Given the description of an element on the screen output the (x, y) to click on. 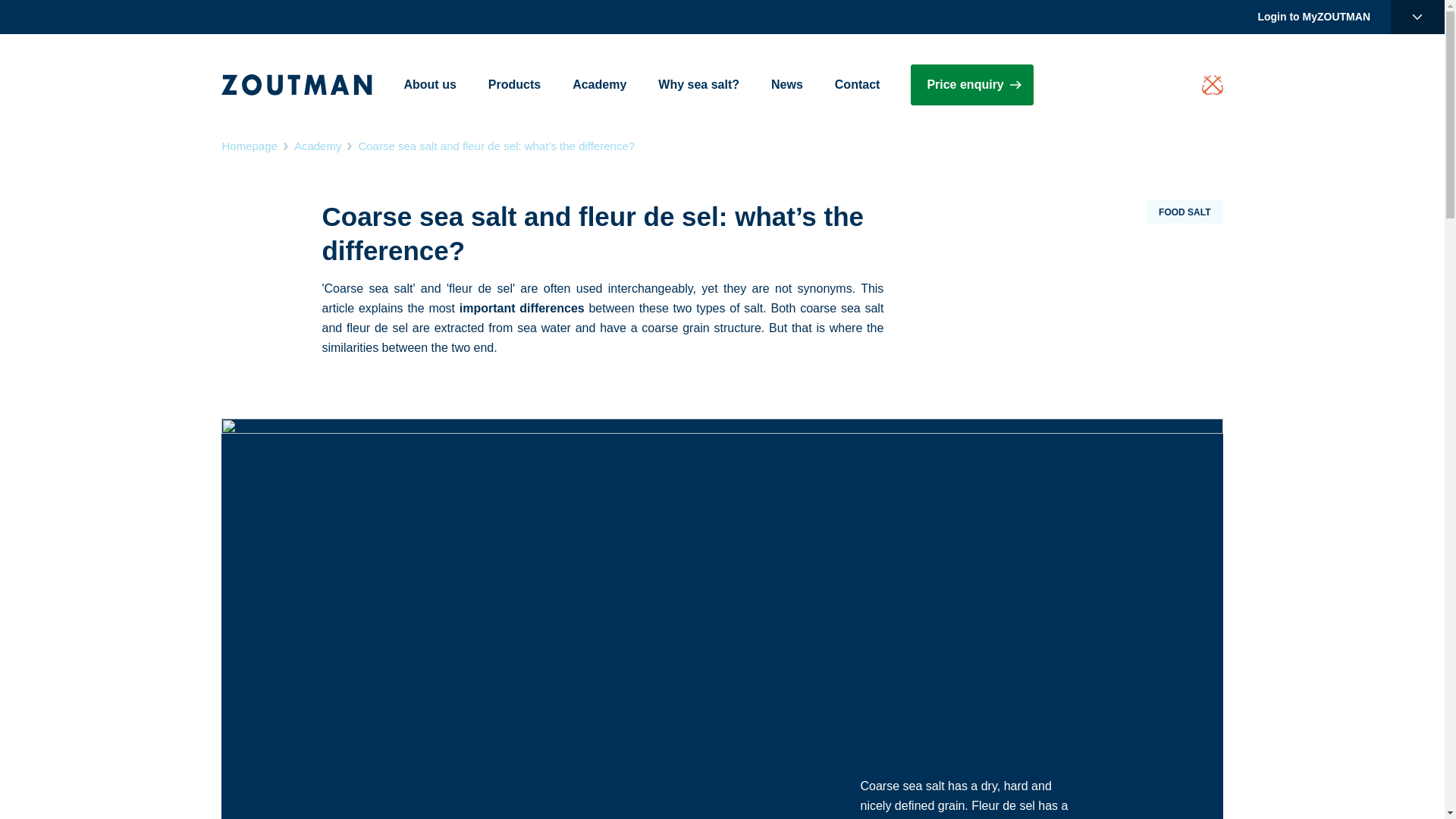
Login to MyZOUTMAN (1312, 17)
Products (514, 84)
Food salt (1185, 211)
Why sea salt? (698, 84)
Price enquiry (971, 84)
Academy (599, 84)
Contact (857, 84)
News (786, 84)
About us (429, 84)
